Given the description of an element on the screen output the (x, y) to click on. 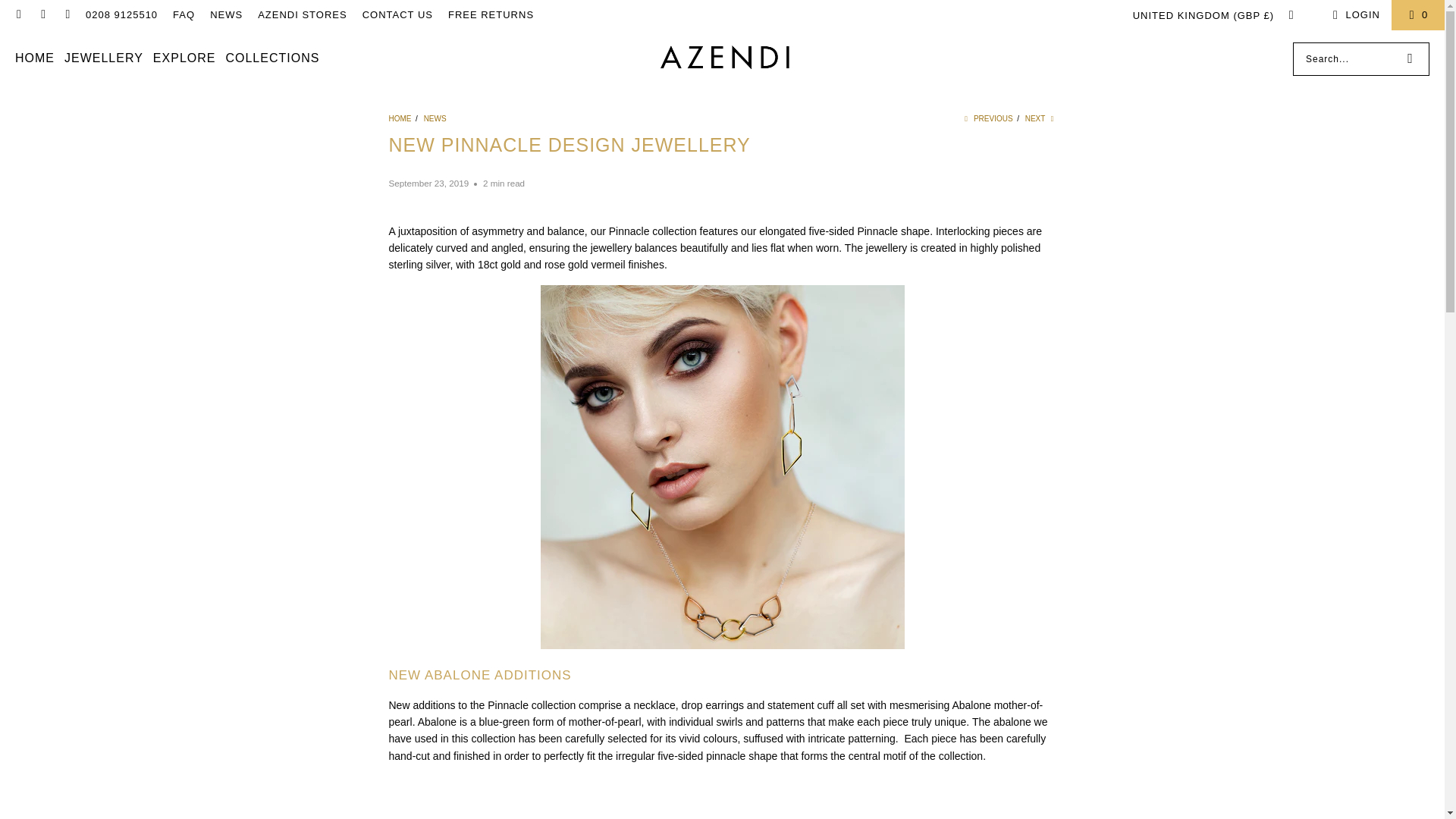
Azendi (400, 118)
Email Azendi (17, 14)
My Account  (1353, 14)
Azendi on Facebook (41, 14)
Azendi (727, 58)
News (434, 118)
Azendi on Instagram (67, 14)
